Given the description of an element on the screen output the (x, y) to click on. 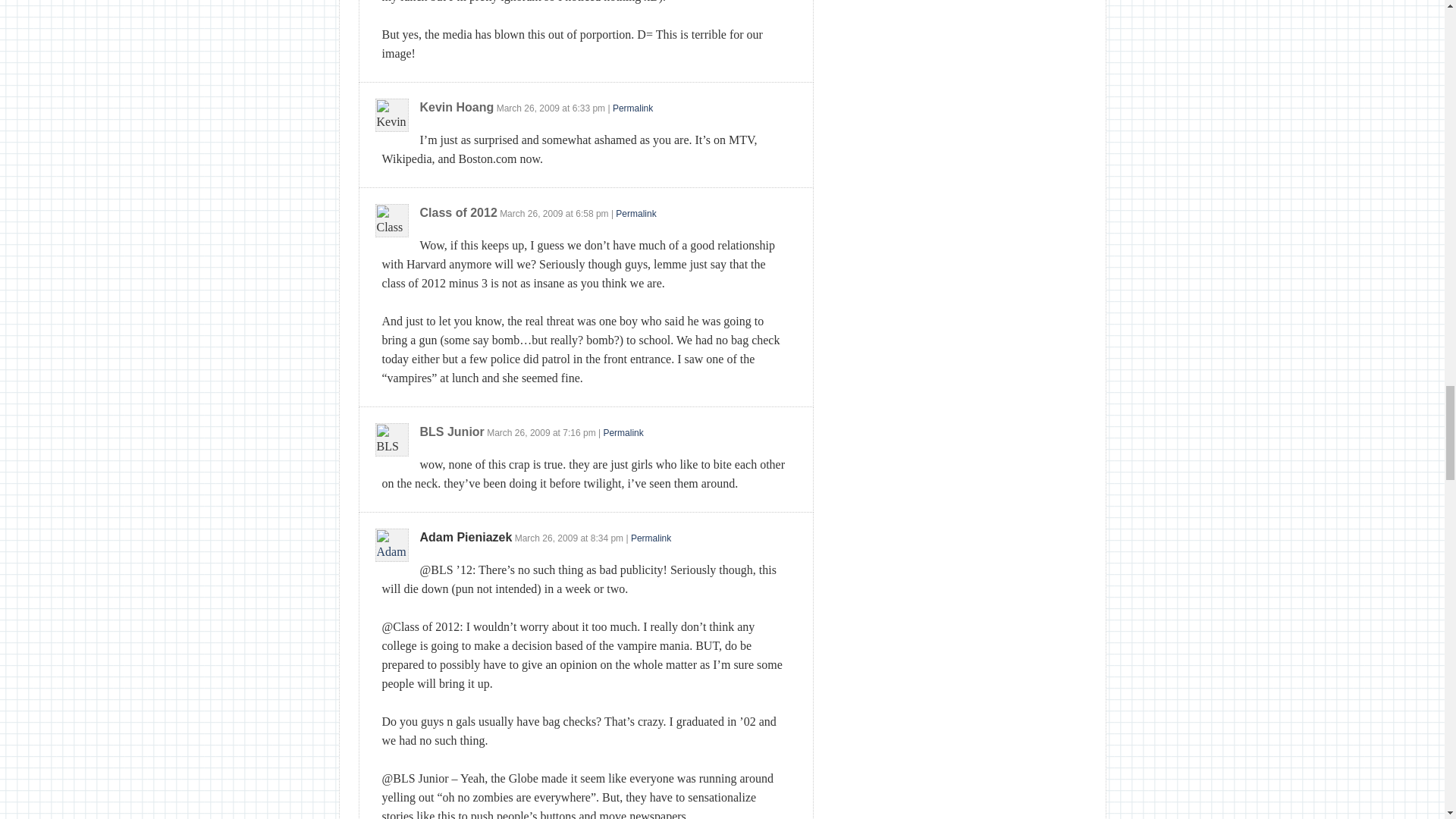
Permalink (622, 432)
Permalink (635, 213)
Permalink (650, 538)
Adam Pieniazek (466, 536)
Permalink (632, 108)
